Given the description of an element on the screen output the (x, y) to click on. 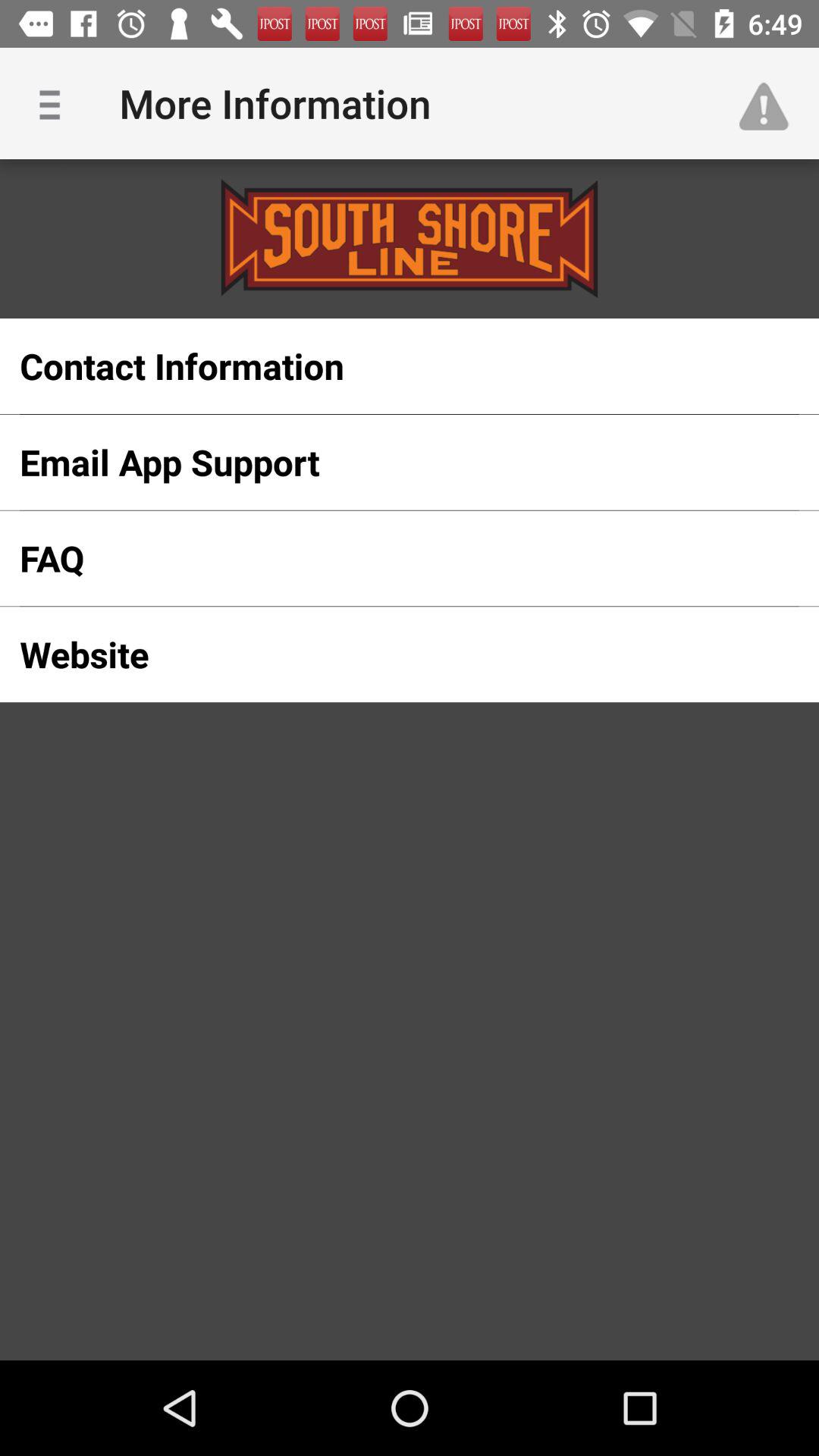
launch website item (385, 654)
